Given the description of an element on the screen output the (x, y) to click on. 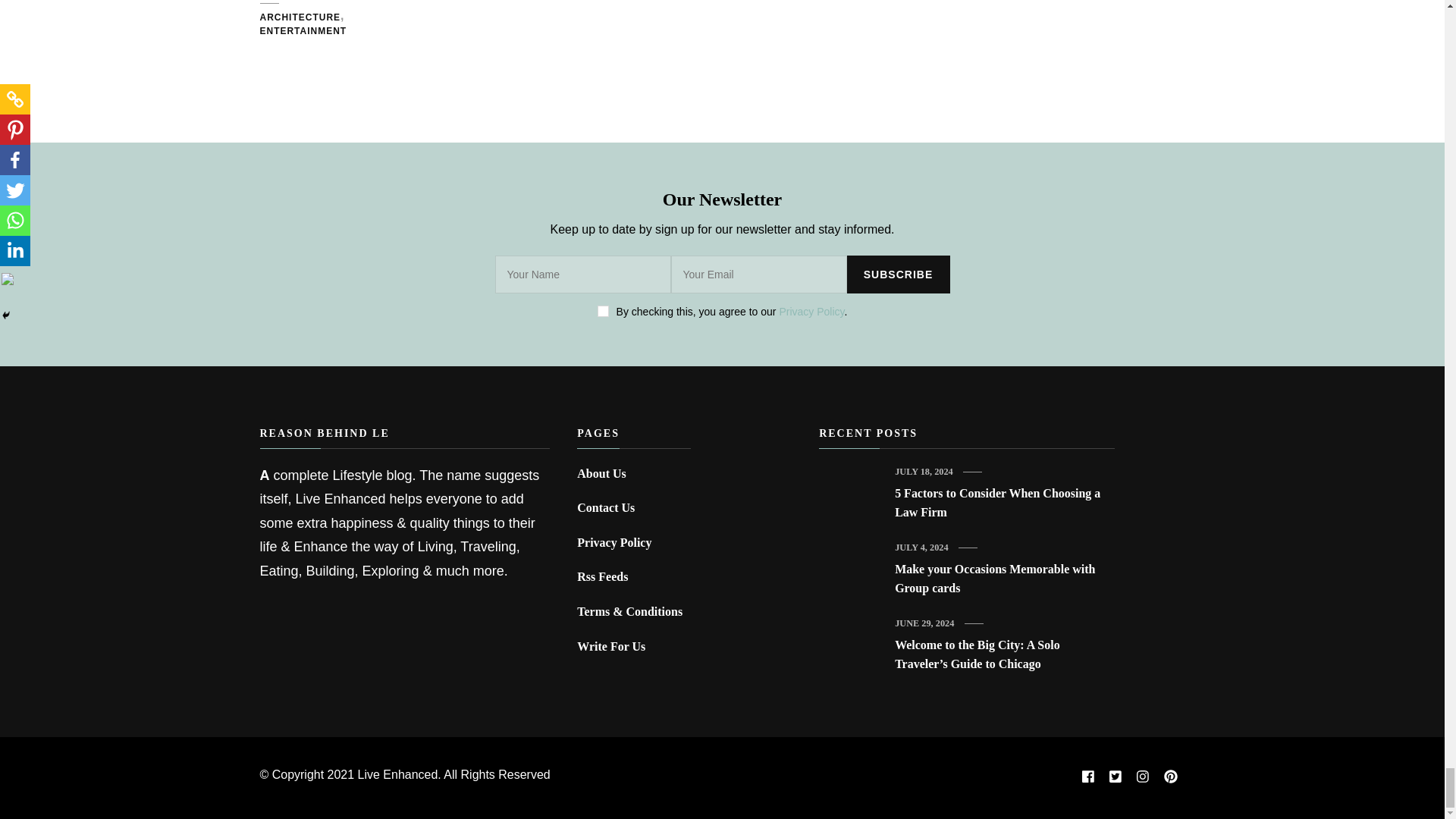
Subscribe (897, 274)
